Given the description of an element on the screen output the (x, y) to click on. 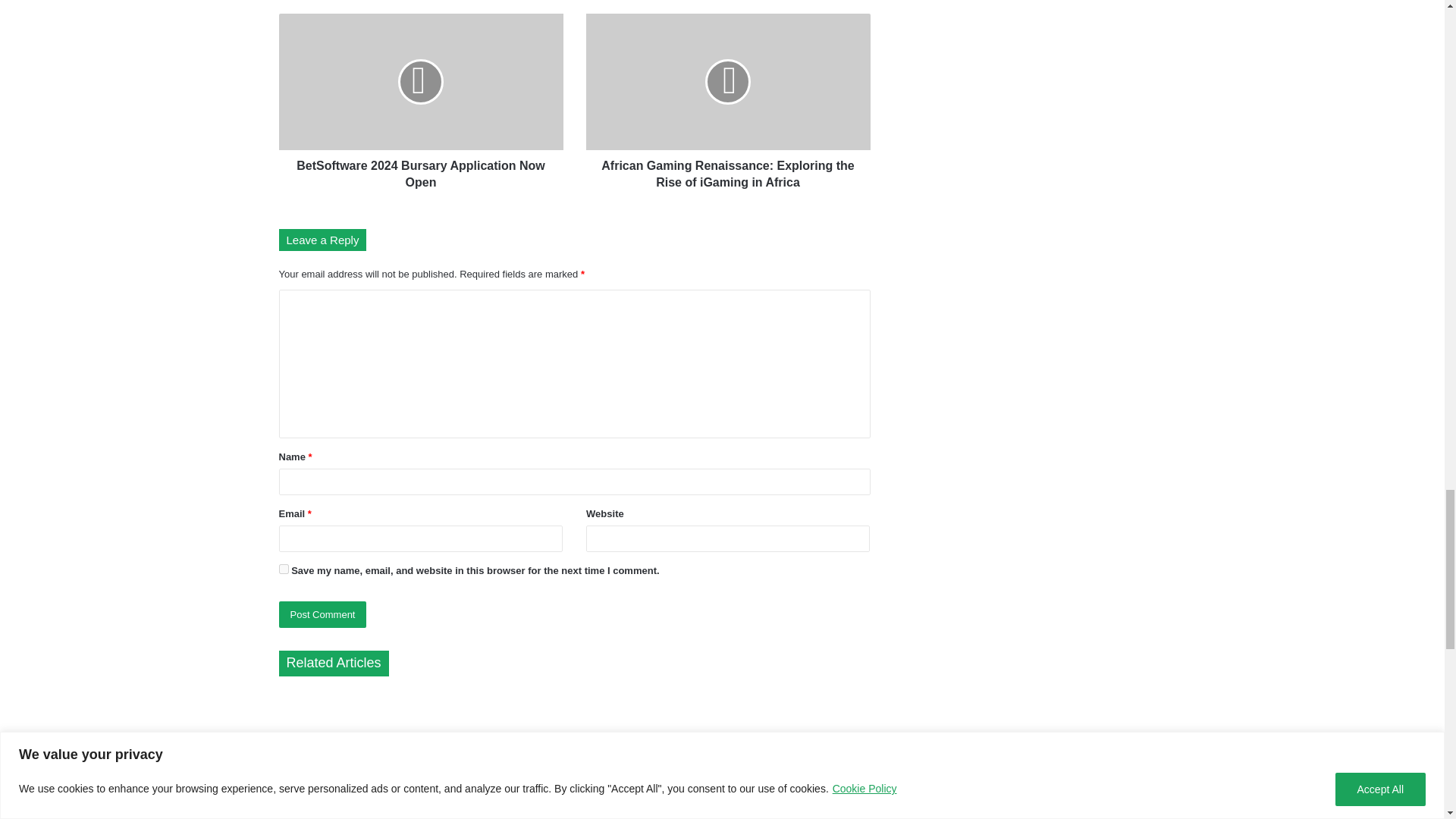
Post Comment (322, 614)
yes (283, 569)
